Given the description of an element on the screen output the (x, y) to click on. 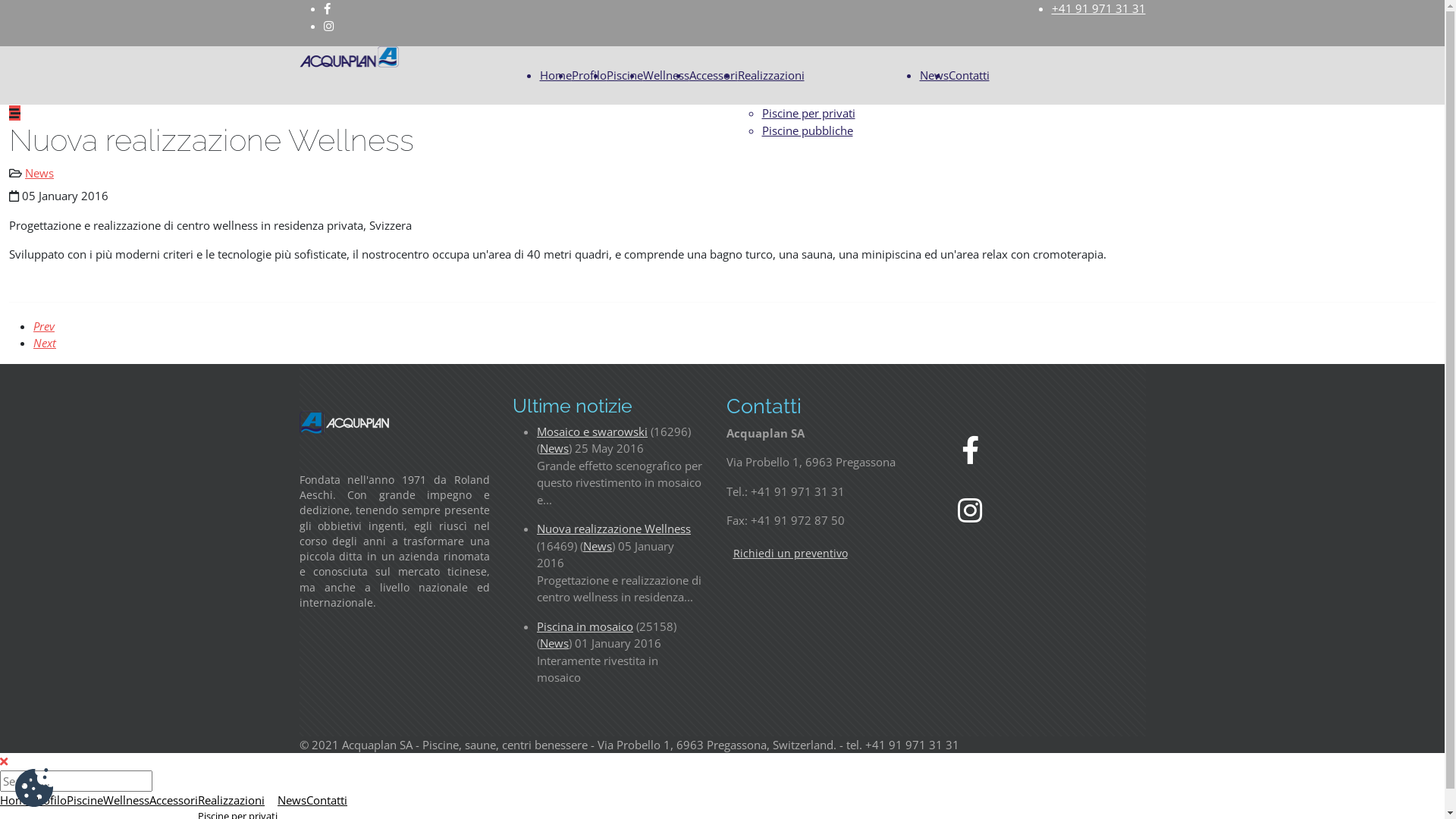
News Element type: text (553, 447)
Piscine pubbliche Element type: text (806, 130)
Profilo Element type: text (588, 74)
Next Element type: text (44, 342)
News Element type: text (291, 799)
Realizzazioni Element type: text (770, 74)
News Element type: text (933, 74)
News Element type: text (39, 172)
Wellness Element type: text (126, 799)
Profilo Element type: text (48, 799)
Mosaico e swarowski Element type: text (591, 430)
Realizzazioni Element type: text (230, 799)
HELIX_CLOSE_MENU Element type: hover (3, 761)
Piscine per privati Element type: text (807, 112)
Richiedi un preventivo Element type: text (790, 552)
Piscine Element type: text (84, 799)
Icon group item Element type: hover (970, 449)
Icon group item Element type: hover (969, 509)
Contatti Element type: text (967, 74)
Nuova realizzazione Wellness Element type: text (613, 528)
Prev Element type: text (43, 325)
Piscina in mosaico Element type: text (584, 625)
News Element type: text (597, 545)
Wellness Element type: text (666, 74)
+41 91 971 31 31 Element type: text (1098, 7)
Contatti Element type: text (326, 799)
Accessori Element type: text (712, 74)
Accessori Element type: text (173, 799)
Home Element type: text (15, 799)
Home Element type: text (555, 74)
News Element type: text (553, 642)
Piscine Element type: text (624, 74)
